Given the description of an element on the screen output the (x, y) to click on. 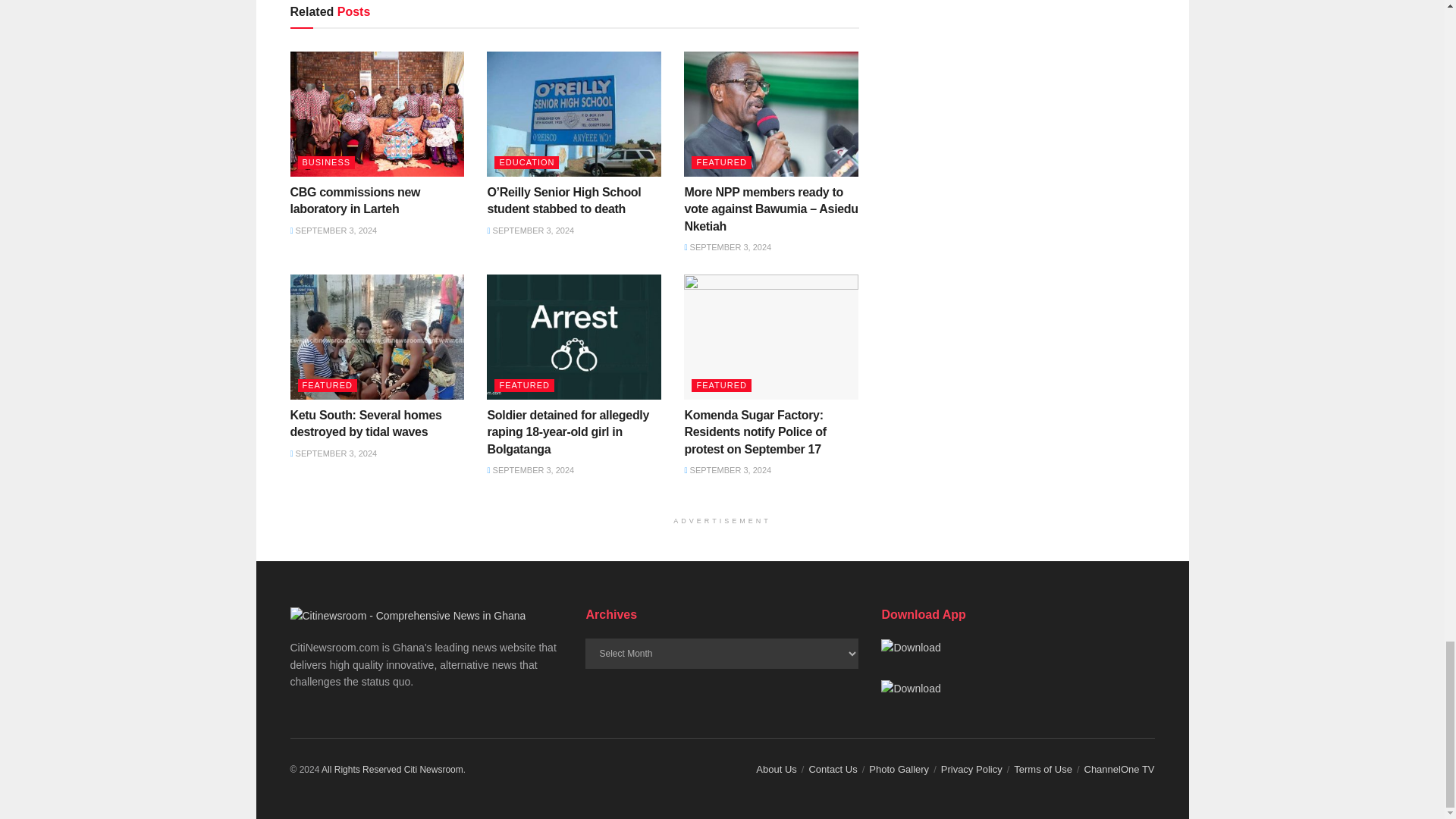
Citi Newsroom (361, 769)
Google Play (910, 647)
App Store (910, 688)
Citi Newsroom (433, 769)
